Given the description of an element on the screen output the (x, y) to click on. 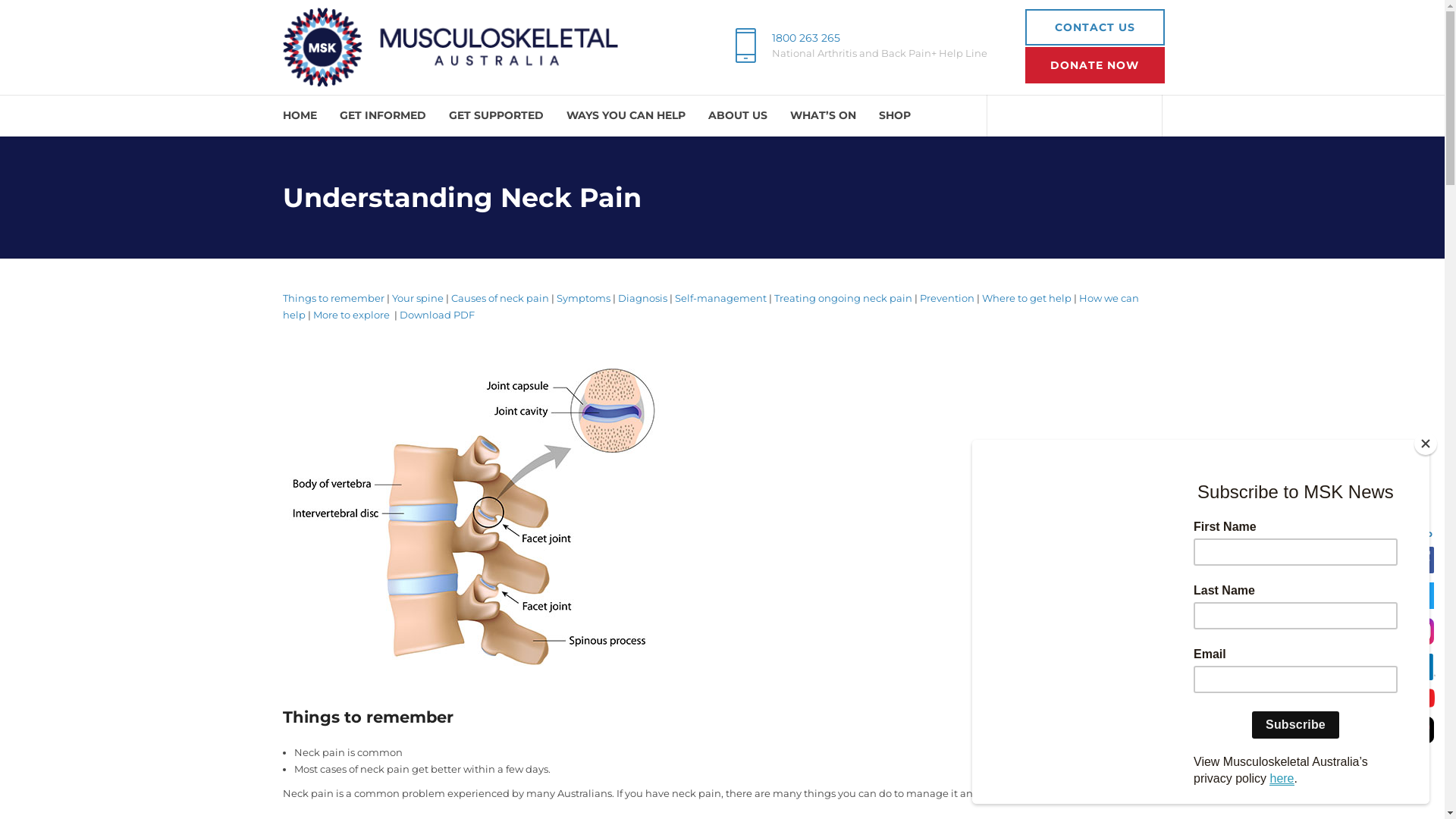
GET SUPPORTED Element type: text (495, 115)
Causes of neck pain Element type: text (499, 297)
Treating ongoing neck pain Element type: text (842, 297)
More to explore Element type: text (350, 314)
SHOP Element type: text (894, 115)
TOP Element type: text (1421, 527)
CONTACT US Element type: text (1095, 27)
WAYS YOU CAN HELP Element type: text (624, 115)
ABOUT US Element type: text (737, 115)
Self-management Element type: text (720, 297)
Download PDF Element type: text (435, 314)
How we can help Element type: text (710, 305)
Where to get help Element type: text (1025, 297)
HOME Element type: text (299, 115)
Prevention Element type: text (946, 297)
Symptoms Element type: text (581, 297)
1800 263 265
National Arthritis and Back Pain+ Help Line Element type: text (854, 45)
DONATE NOW Element type: text (1095, 65)
Things to remember Element type: text (332, 297)
GET INFORMED Element type: text (382, 115)
Diagnosis Element type: text (641, 297)
Your spine Element type: text (416, 297)
